Given the description of an element on the screen output the (x, y) to click on. 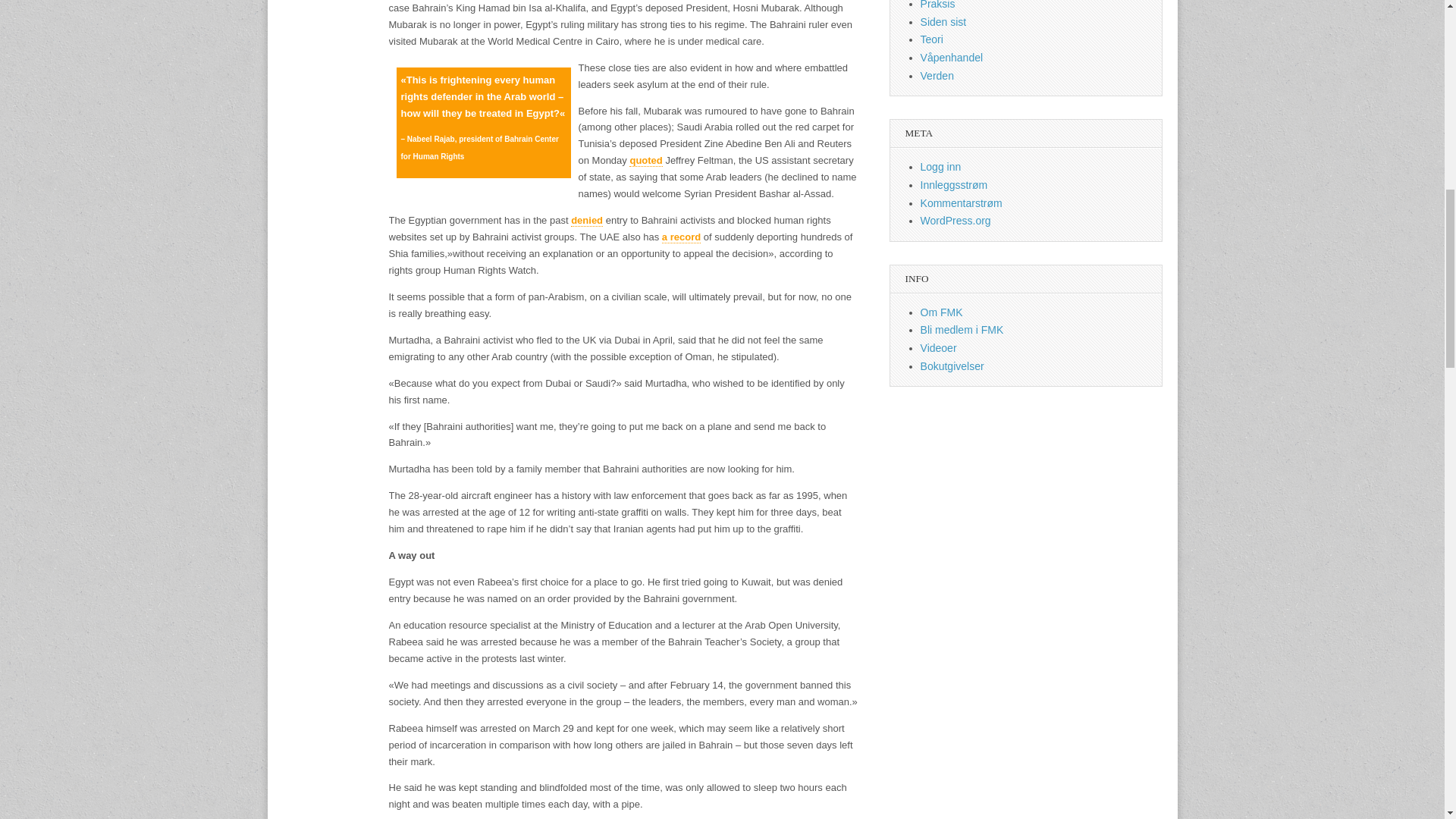
denied (586, 220)
quoted (645, 160)
a record (681, 236)
